Given the description of an element on the screen output the (x, y) to click on. 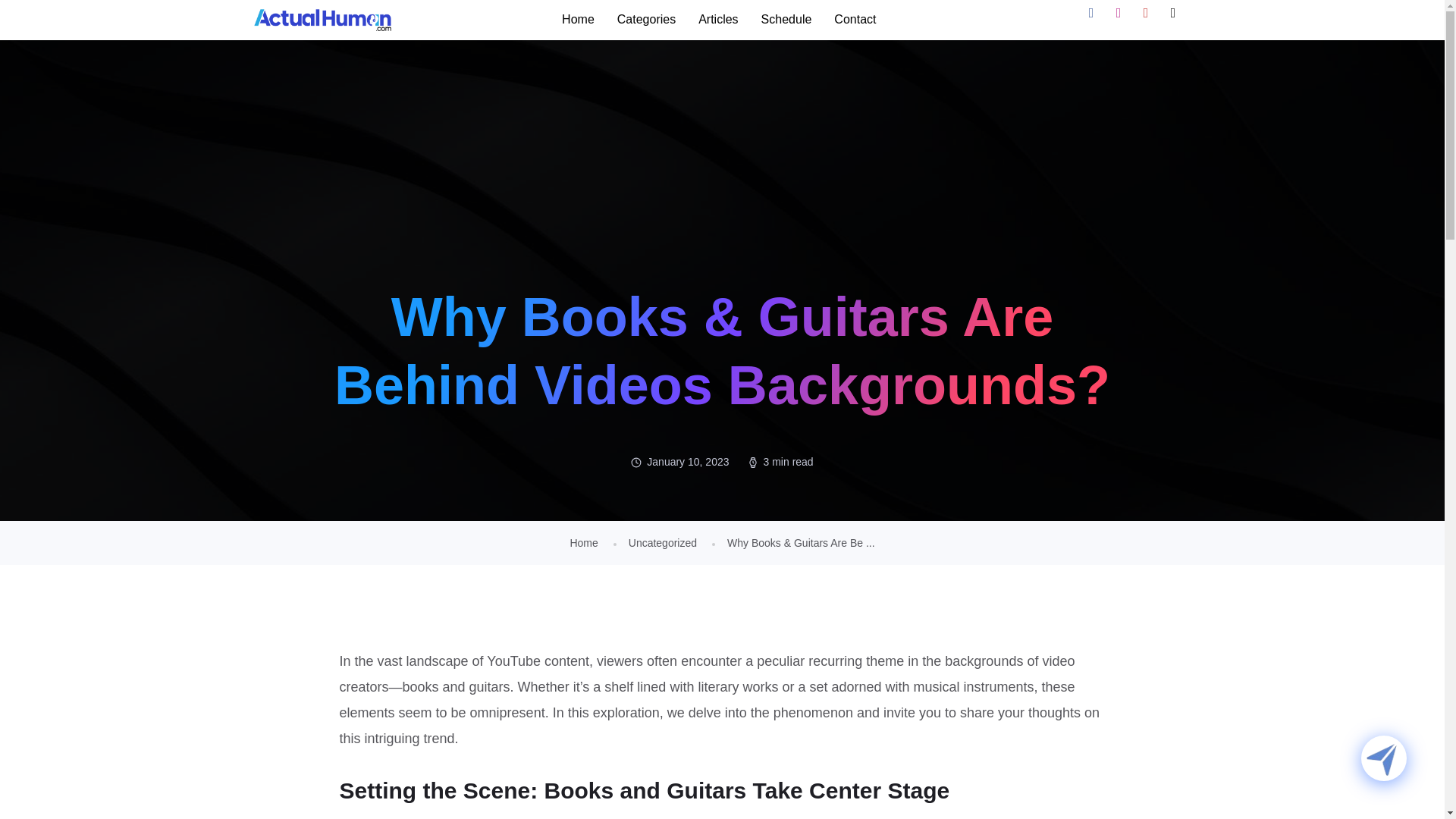
Home (577, 19)
Articles (718, 19)
Home (582, 542)
Schedule (786, 19)
Contact (854, 19)
Home (582, 542)
Categories (646, 19)
Uncategorized (662, 542)
